Given the description of an element on the screen output the (x, y) to click on. 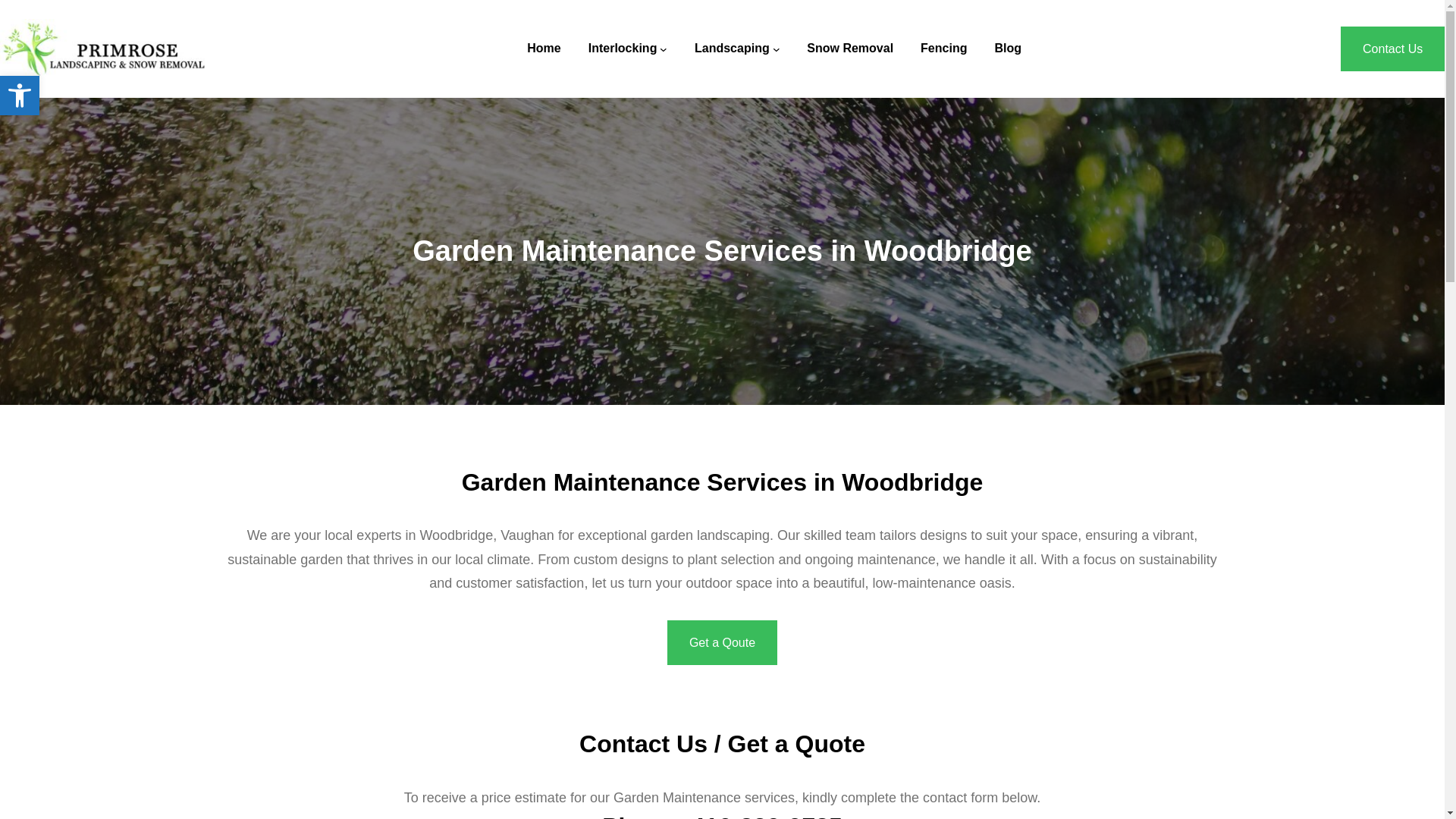
Accessibility Tools (19, 95)
Interlocking (19, 95)
416-839-9785 (623, 47)
Get a Qoute (767, 816)
Landscaping (721, 642)
Fencing (732, 47)
Accessibility Tools (943, 47)
Snow Removal (19, 95)
